Given the description of an element on the screen output the (x, y) to click on. 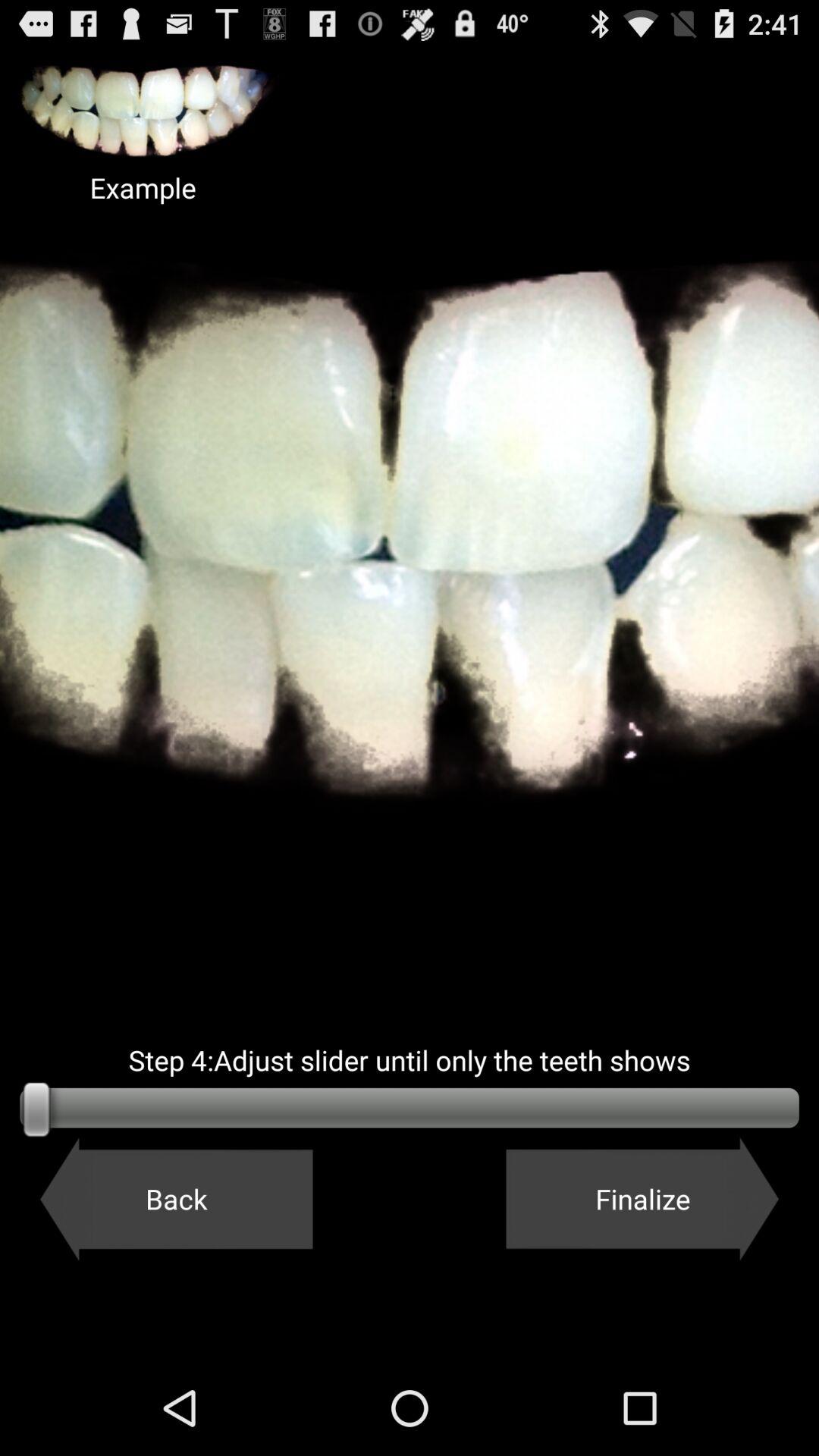
choose the button next to back icon (642, 1198)
